Given the description of an element on the screen output the (x, y) to click on. 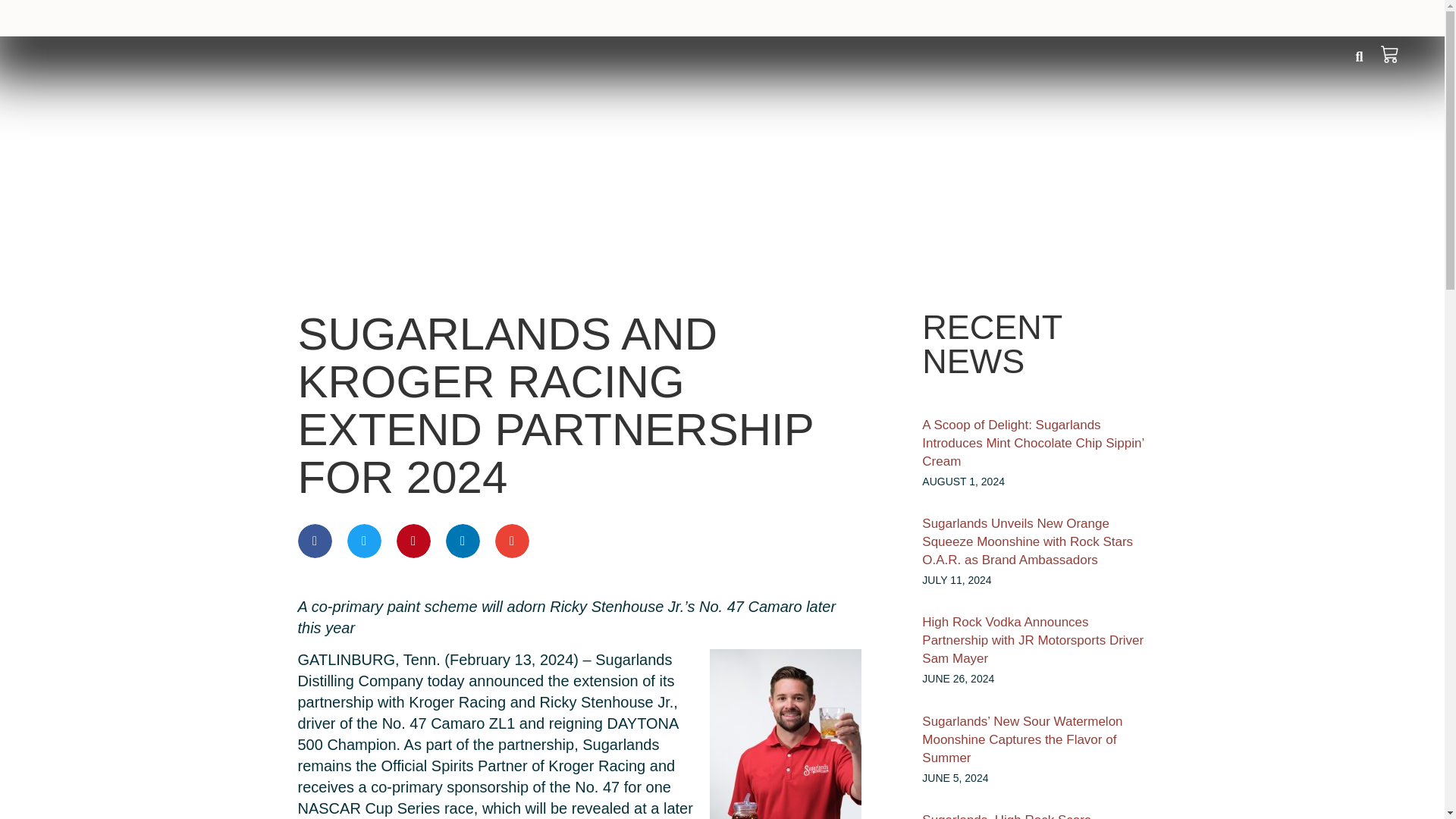
Sugarlands, High Rock Score Partnership with Nashville SC (1006, 816)
